Given the description of an element on the screen output the (x, y) to click on. 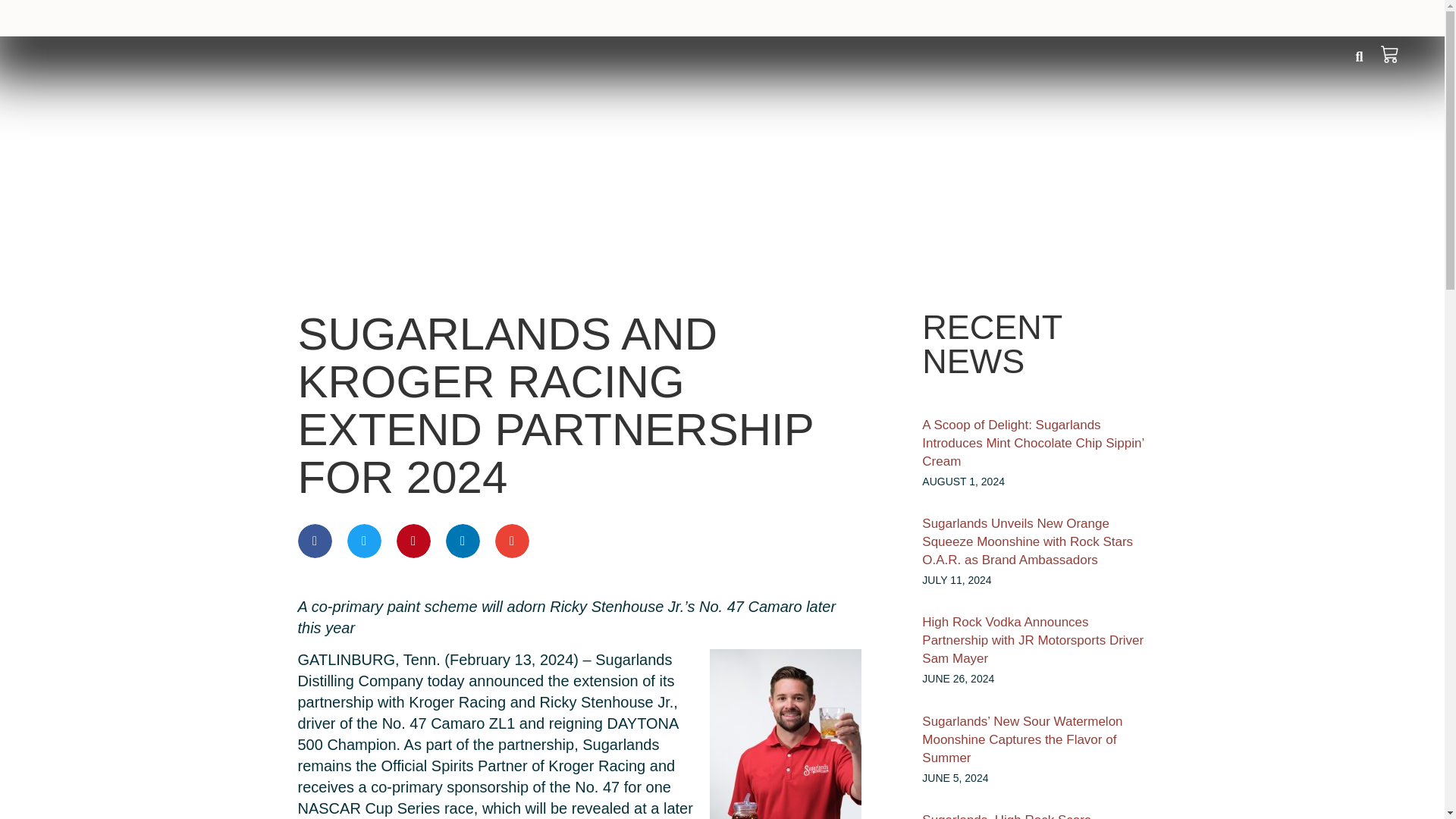
Sugarlands, High Rock Score Partnership with Nashville SC (1006, 816)
